Given the description of an element on the screen output the (x, y) to click on. 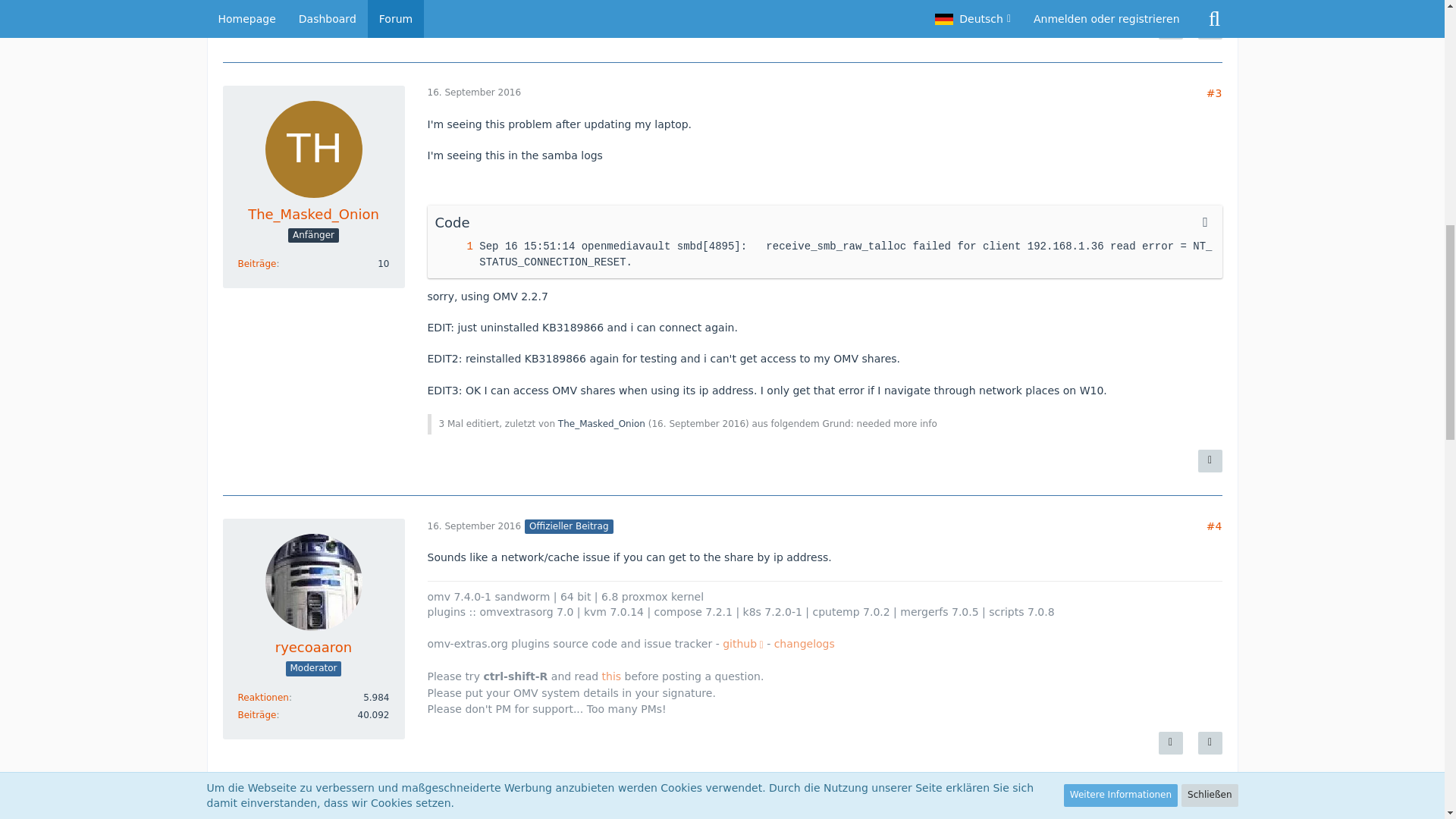
16. September 2016, 11:14 (697, 423)
16. September 2016, 05:54 (474, 91)
16. September 2016, 13:53 (474, 525)
17. September 2016, 23:07 (474, 807)
1 (454, 246)
